Given the description of an element on the screen output the (x, y) to click on. 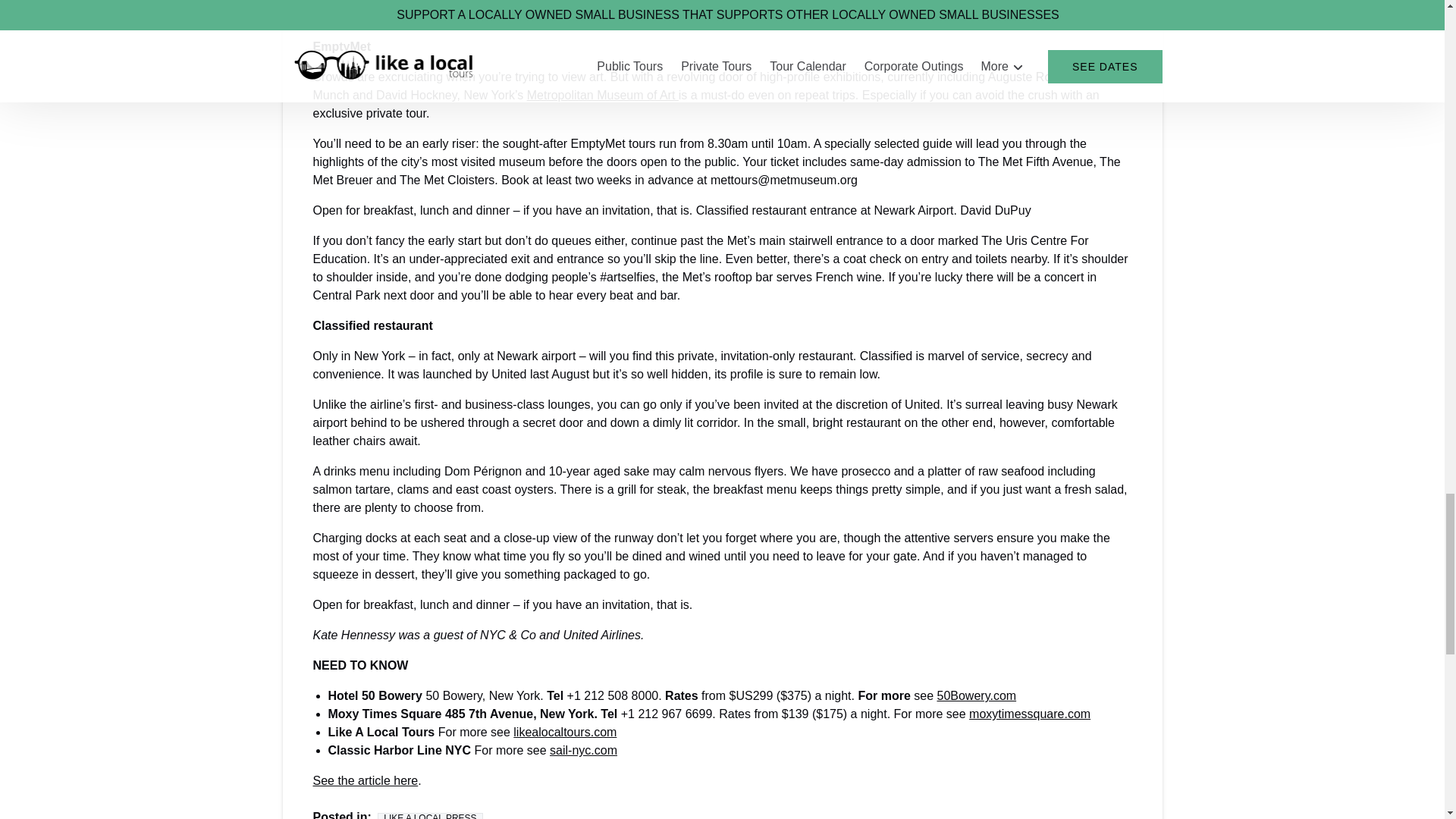
Metropolitan Museum of Art (602, 94)
likealocaltours.com (564, 731)
sail-nyc.com (583, 749)
LIKE A LOCAL PRESS (429, 816)
moxytimessquare.com (1029, 713)
50Bowery.com (976, 695)
See the article here (365, 780)
